Given the description of an element on the screen output the (x, y) to click on. 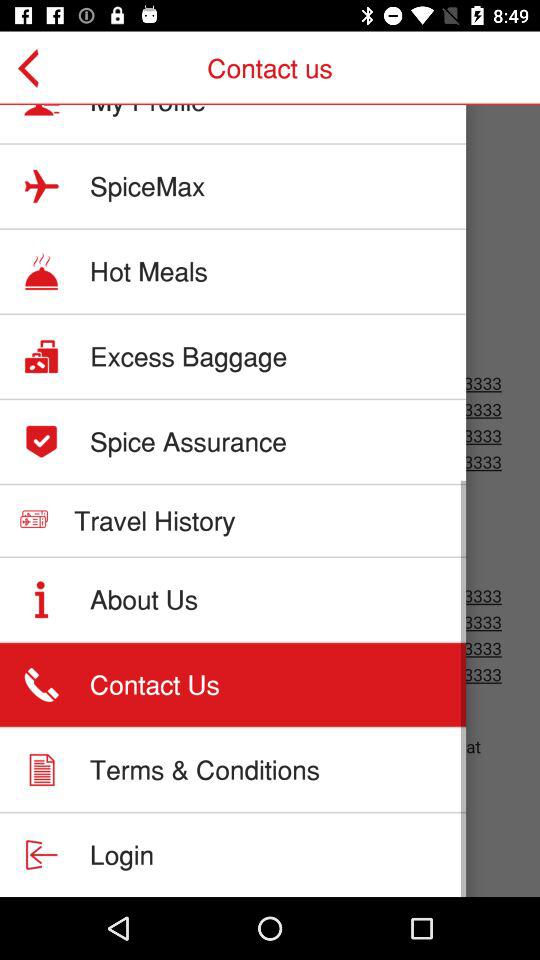
turn off item to the left of my profile (36, 68)
